Given the description of an element on the screen output the (x, y) to click on. 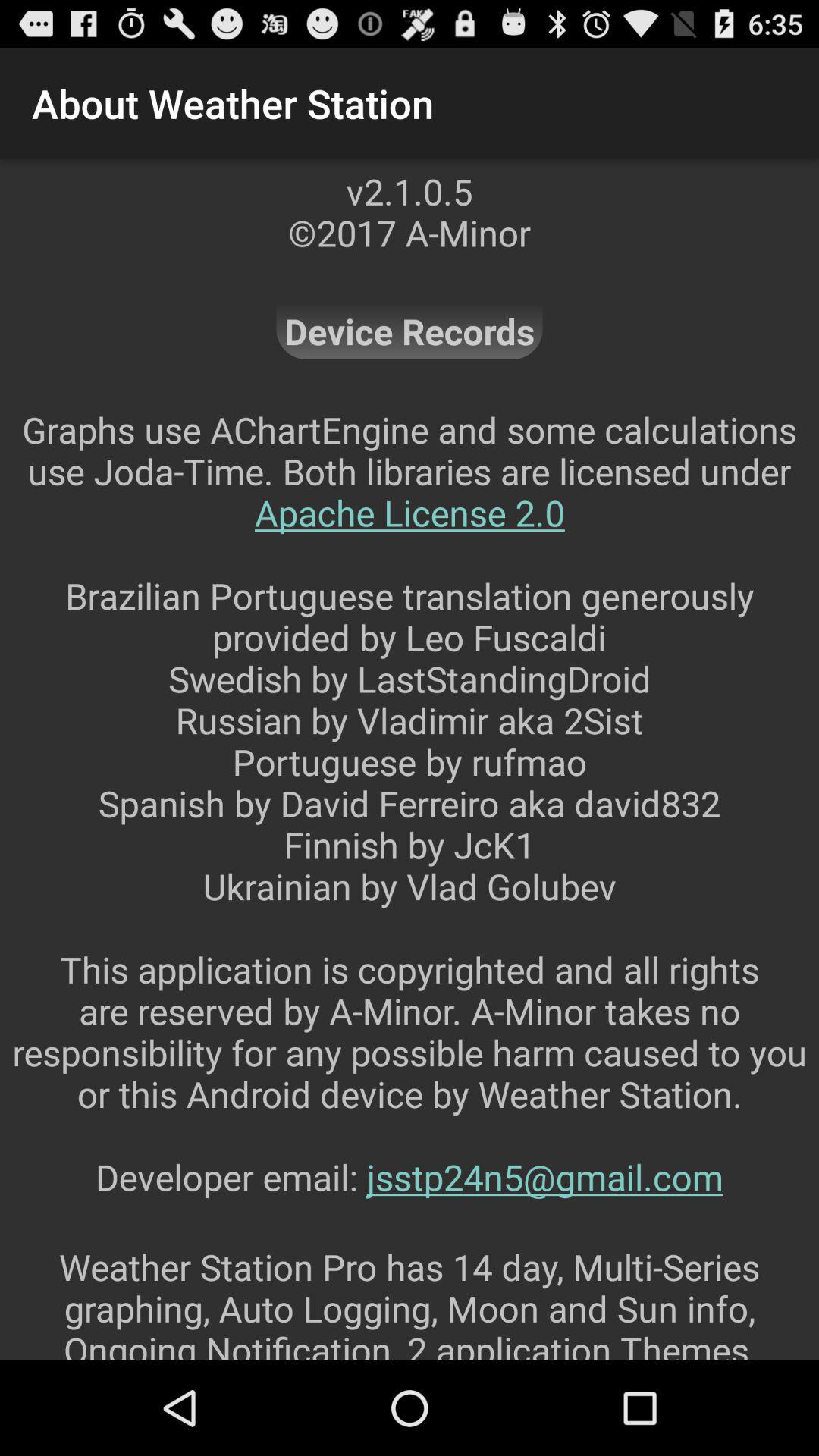
turn off the graphs use achartengine at the center (409, 823)
